Given the description of an element on the screen output the (x, y) to click on. 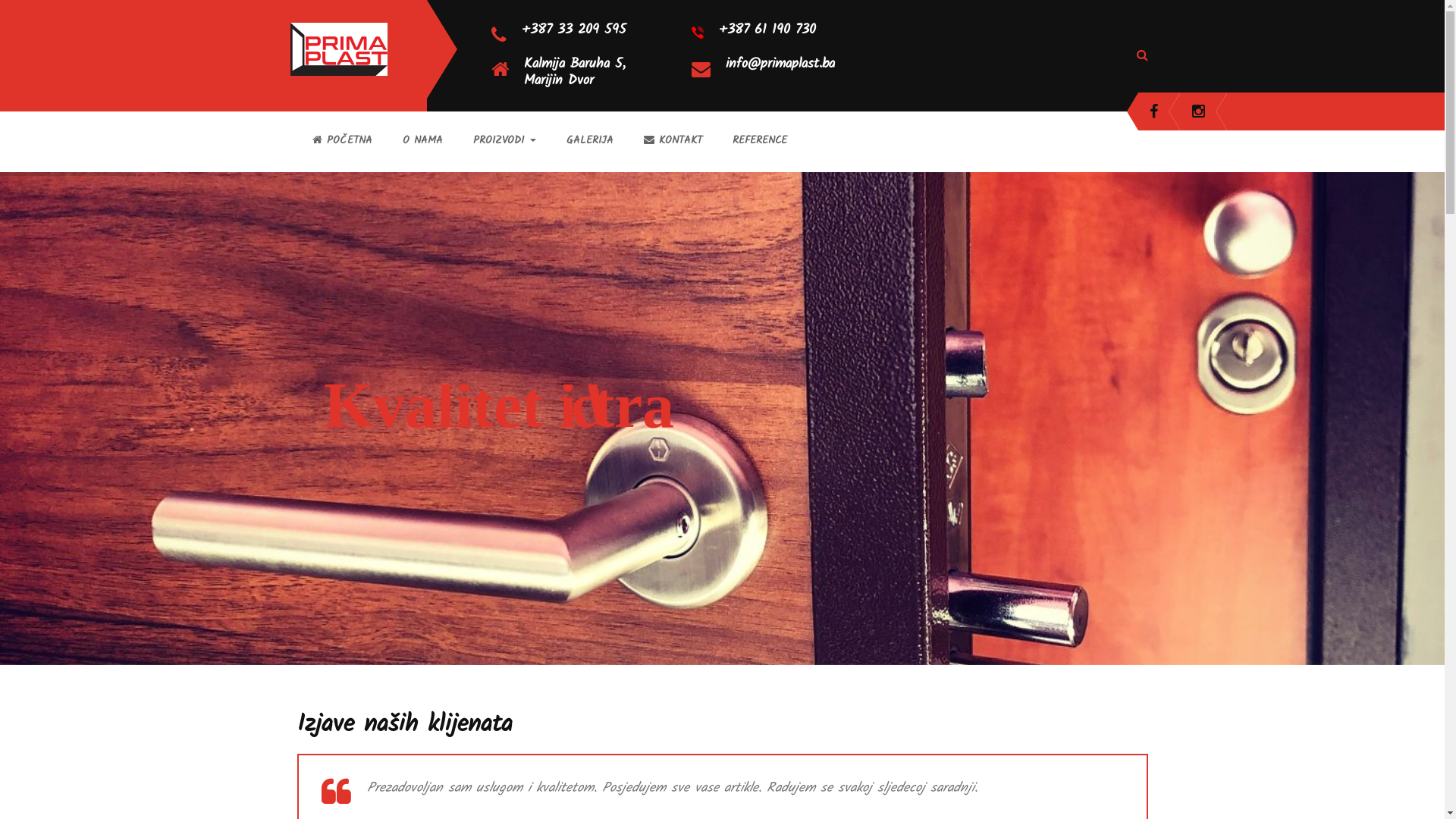
facebook Element type: text (1153, 111)
PROIZVODI Element type: text (504, 139)
instagram Element type: text (1198, 111)
KONTAKT Element type: text (672, 139)
REFERENCE Element type: text (759, 139)
search Element type: text (34, 19)
GALERIJA Element type: text (588, 139)
O NAMA Element type: text (421, 139)
